Given the description of an element on the screen output the (x, y) to click on. 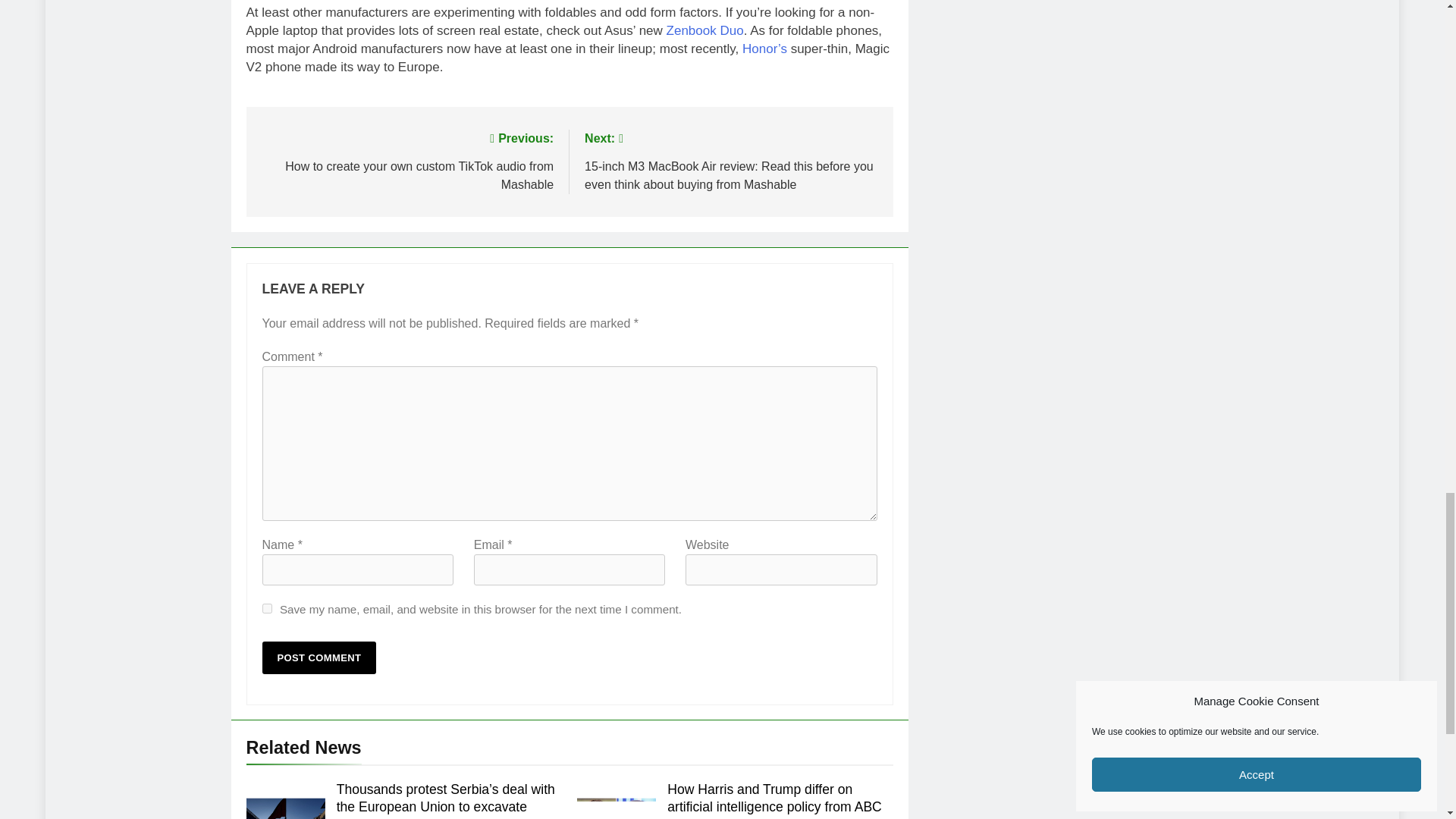
yes (267, 608)
Post Comment (319, 657)
